Given the description of an element on the screen output the (x, y) to click on. 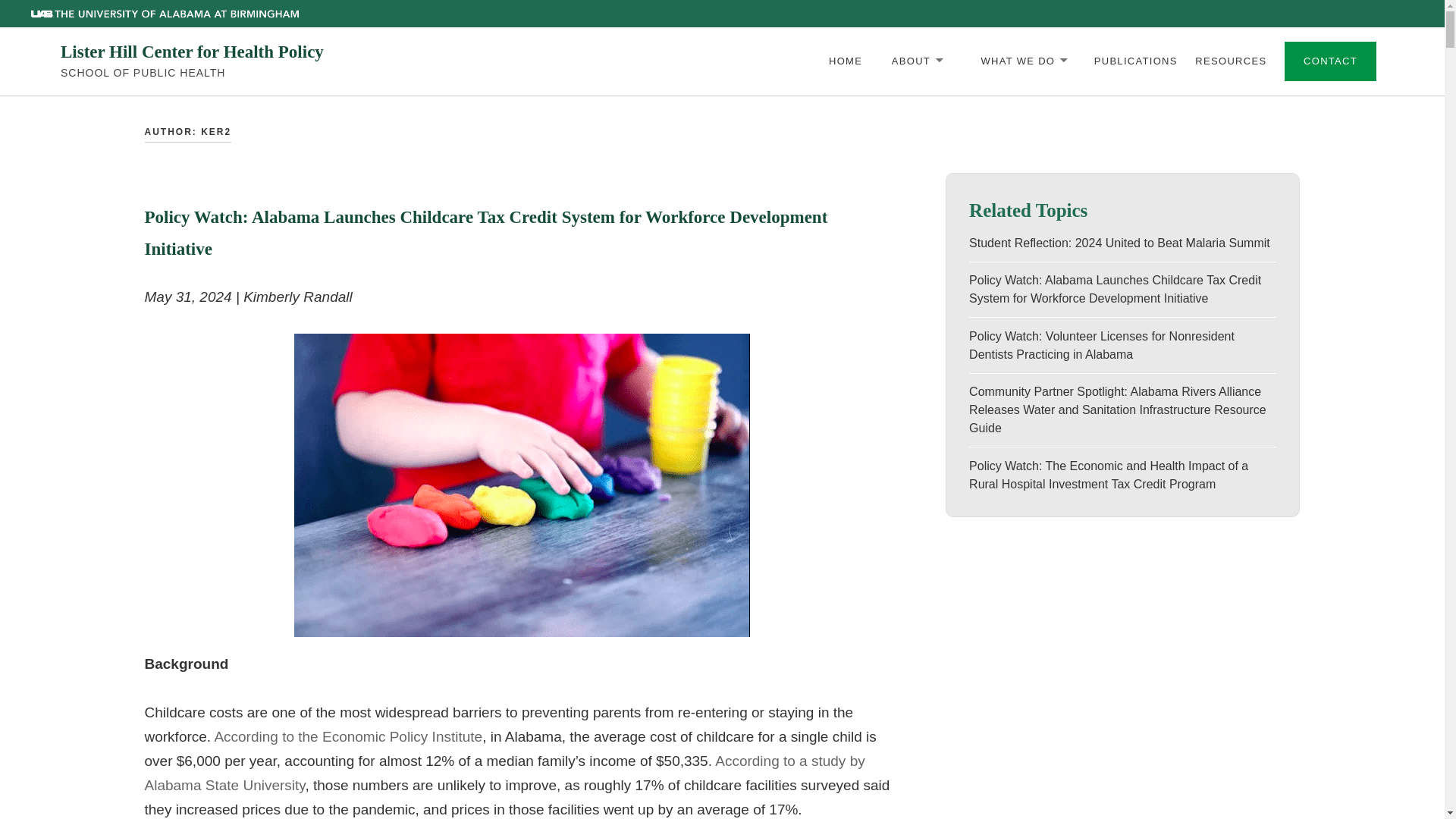
RESOURCES (1230, 61)
ABOUT (916, 61)
CONTACT (1329, 61)
According to the Economic Policy Institute (347, 736)
PUBLICATIONS (1135, 61)
WHAT WE DO (1023, 61)
HOME (844, 61)
Lister Hill Center for Health Policy (192, 51)
According to a study by Alabama State University (504, 772)
